Given the description of an element on the screen output the (x, y) to click on. 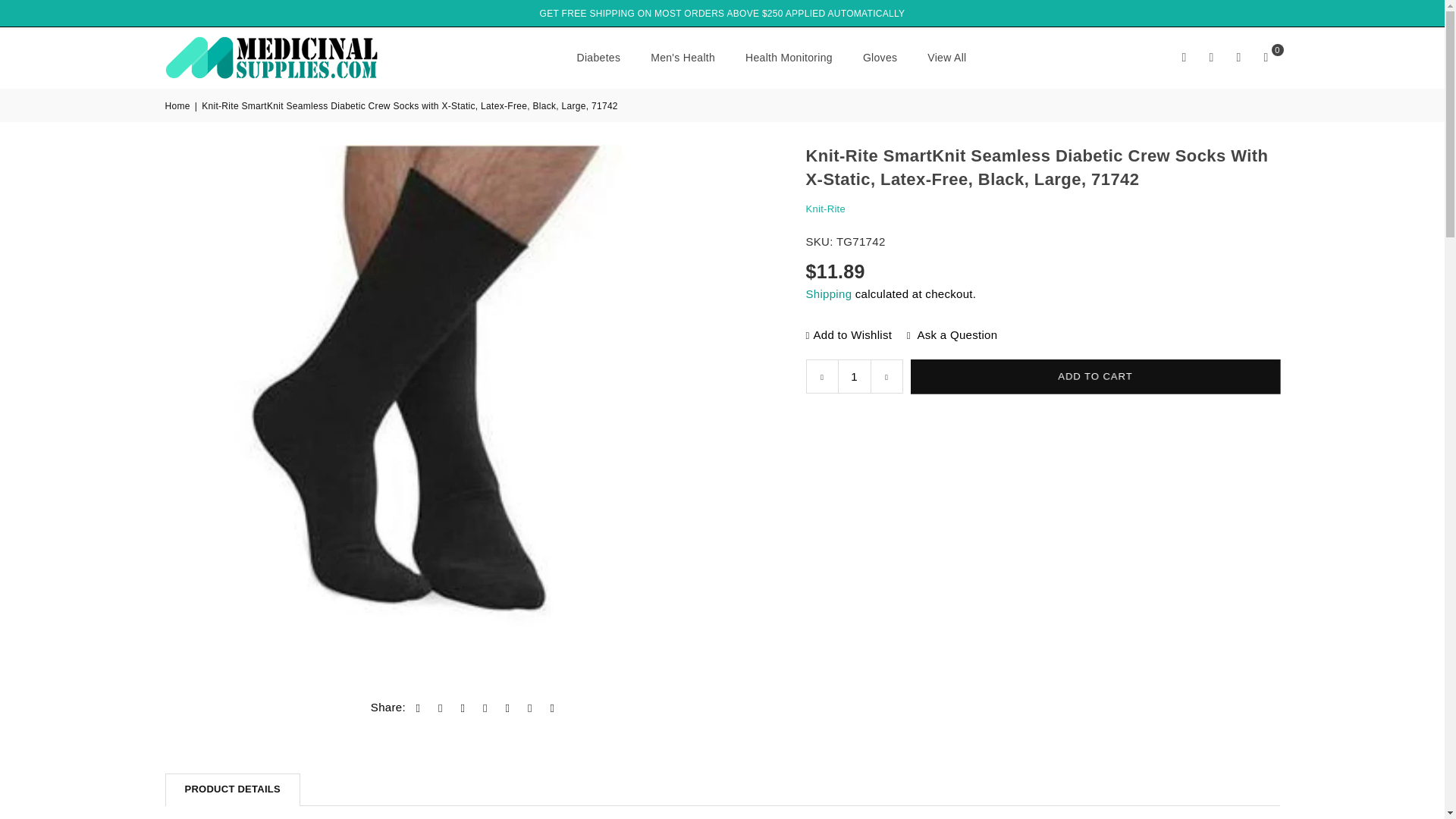
Men's Health (682, 56)
Health Monitoring (788, 56)
Cart (1265, 57)
Diabetes (598, 56)
View All (945, 56)
Gloves (879, 56)
Settings (1211, 57)
1 (854, 376)
Quantity (853, 376)
Search (1184, 57)
Wishlist (1238, 57)
Back to the home page (178, 106)
